Given the description of an element on the screen output the (x, y) to click on. 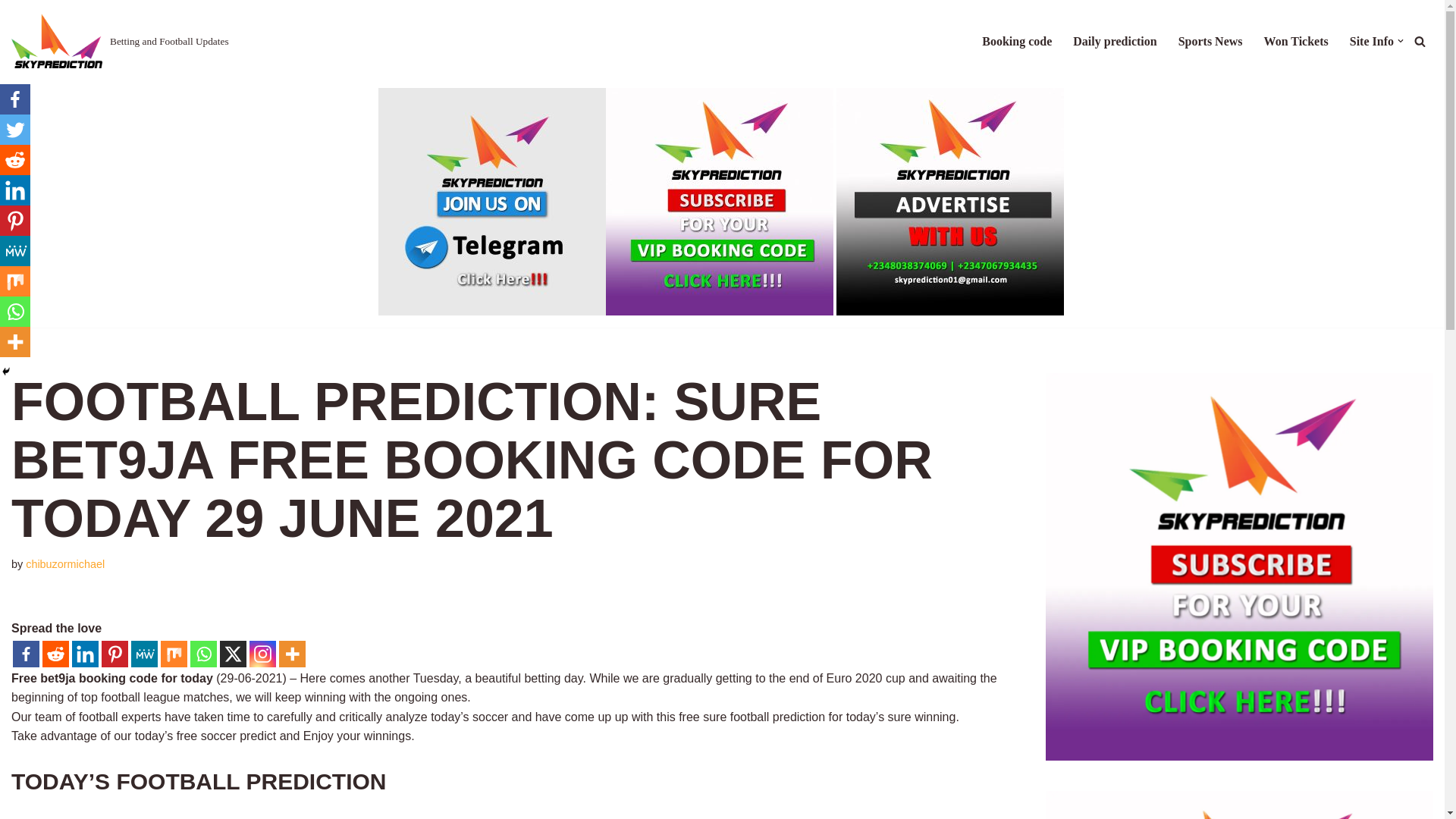
Mix (173, 653)
Betting and Football Updates (119, 40)
Facebook (26, 653)
Sports News (1210, 41)
Pinterest (114, 653)
More (292, 653)
Booking code (1016, 41)
Posts by chibuzormichael (65, 563)
Reddit (55, 653)
X (232, 653)
Linkedin (85, 653)
chibuzormichael (65, 563)
Daily prediction (1114, 41)
MeWe (144, 653)
Won Tickets (1295, 41)
